Given the description of an element on the screen output the (x, y) to click on. 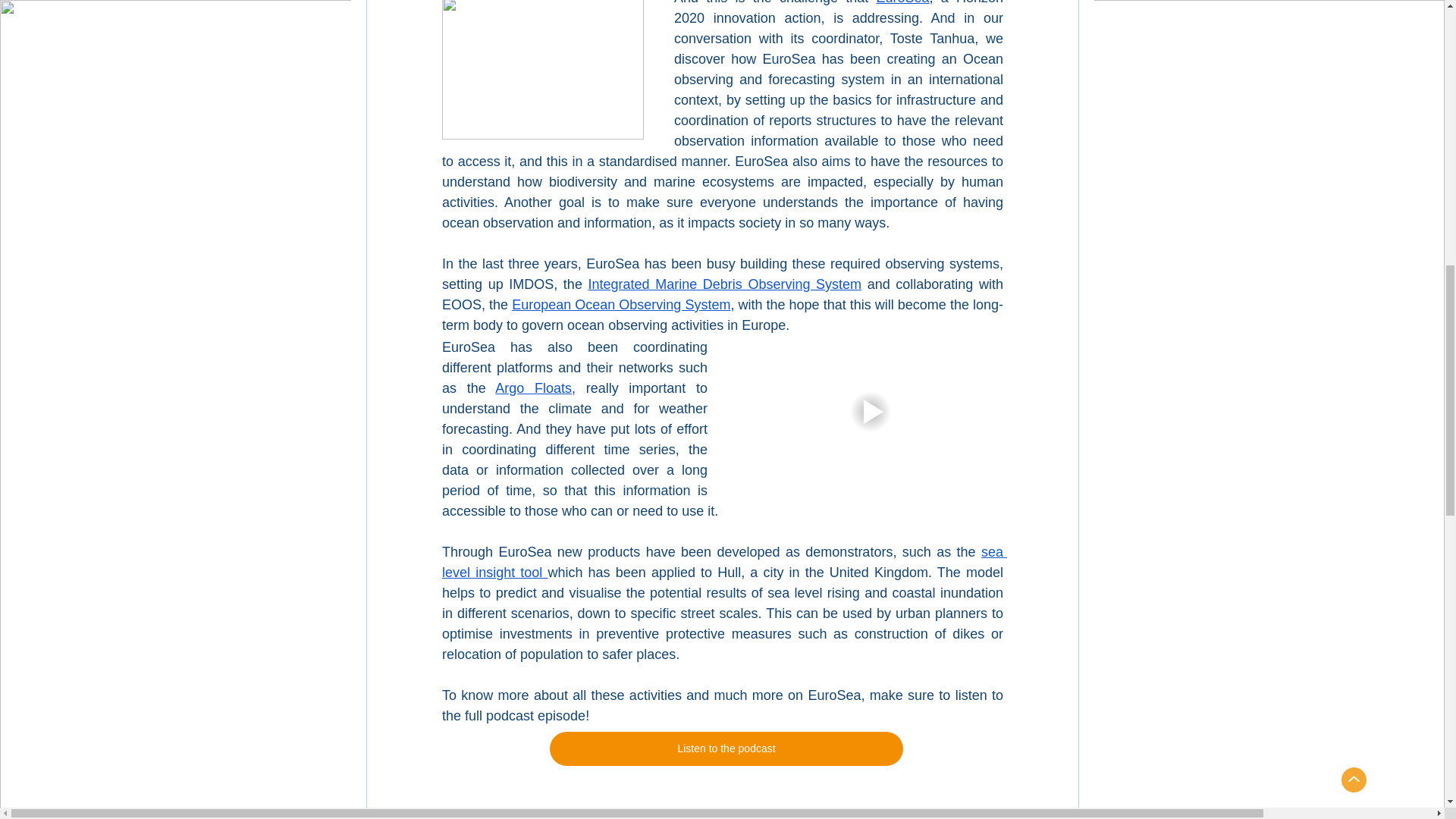
sea level insight tool  (723, 561)
Argo Floats (533, 387)
European Ocean Observing System (621, 304)
Listen to the podcast (725, 748)
Integrated Marine Debris Observing System (724, 283)
EuroSea (902, 2)
